Given the description of an element on the screen output the (x, y) to click on. 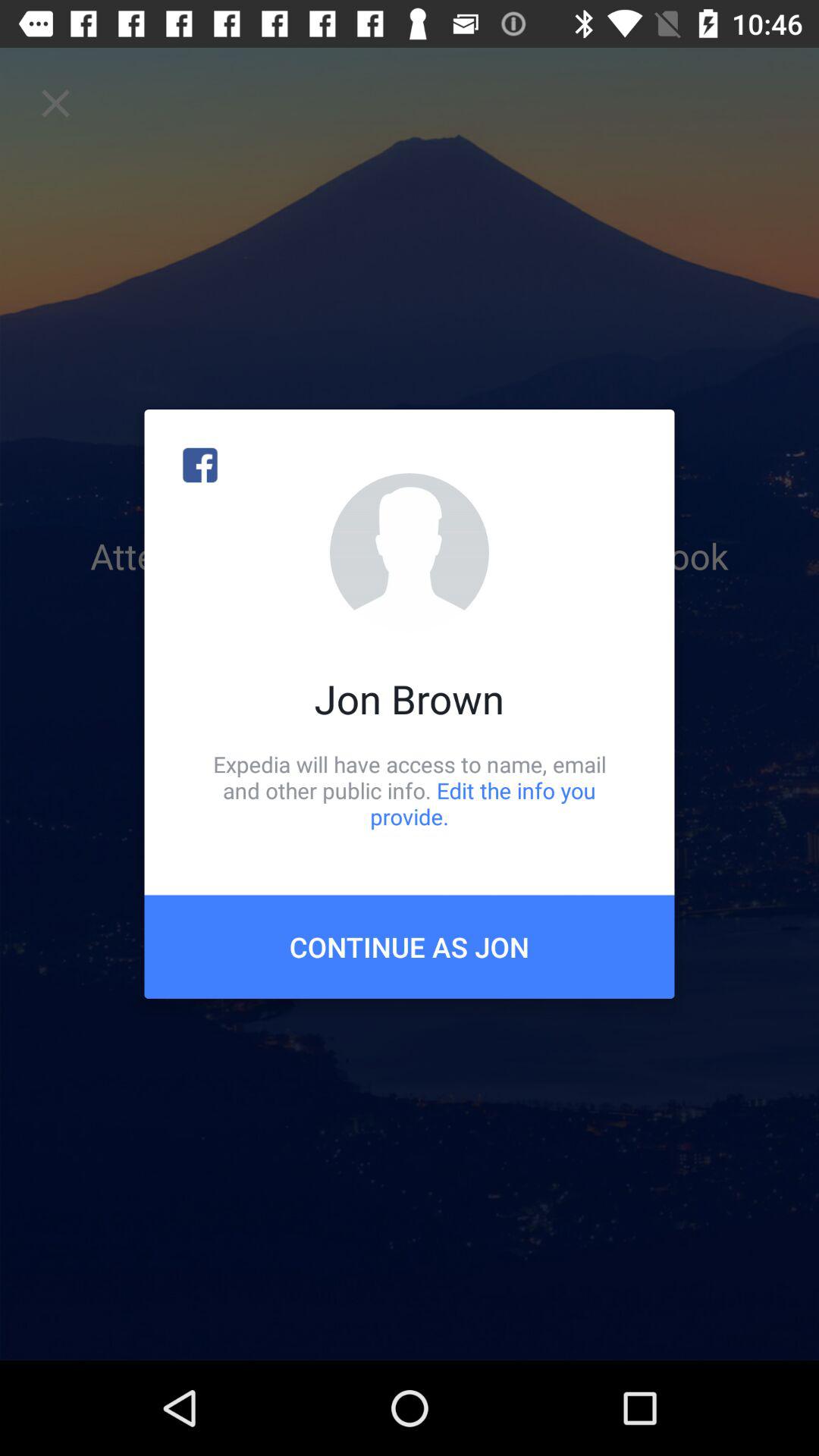
select continue as jon icon (409, 946)
